Given the description of an element on the screen output the (x, y) to click on. 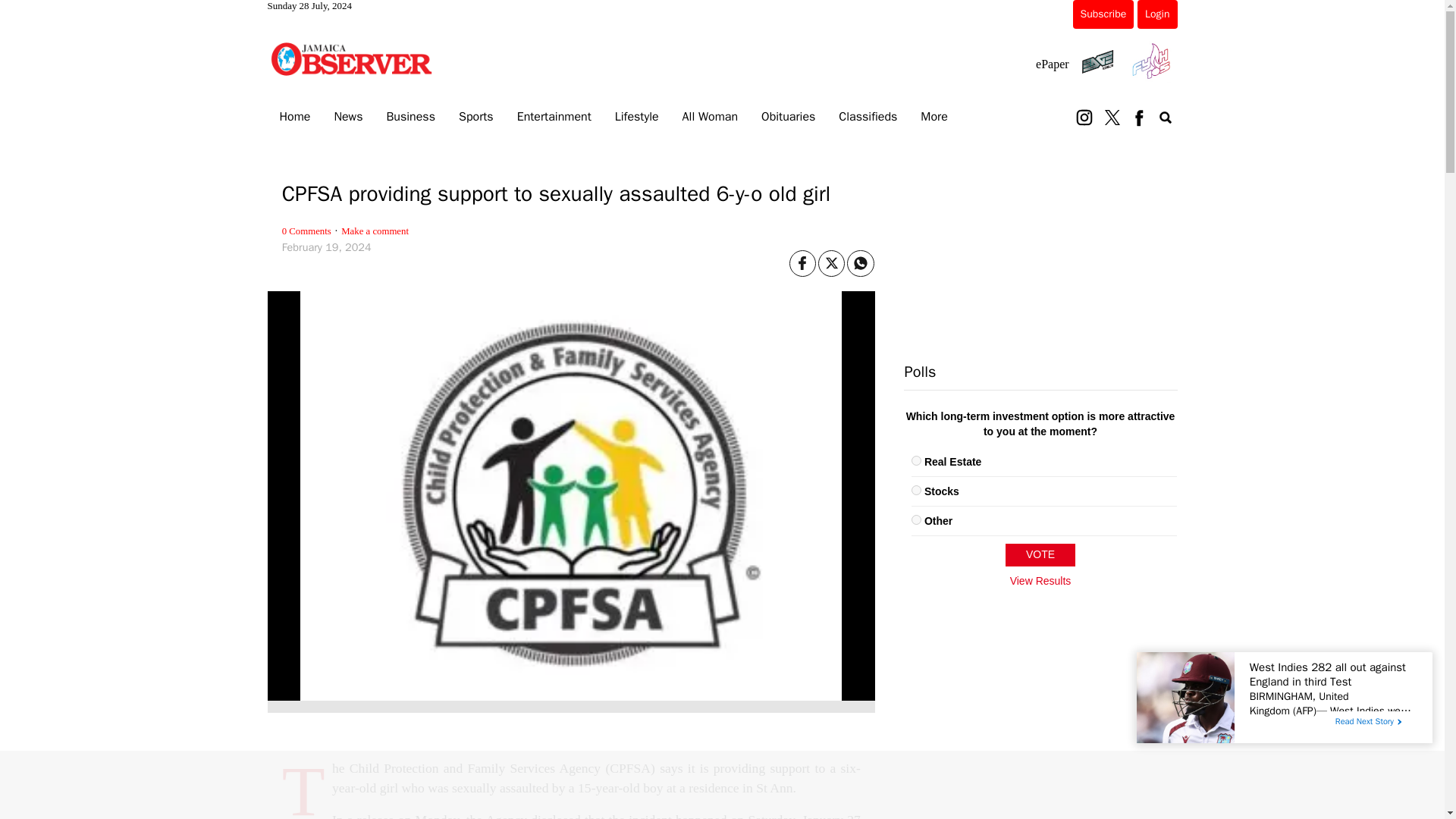
Login (1156, 14)
ePaper (1051, 64)
Subscribe (1103, 14)
